Given the description of an element on the screen output the (x, y) to click on. 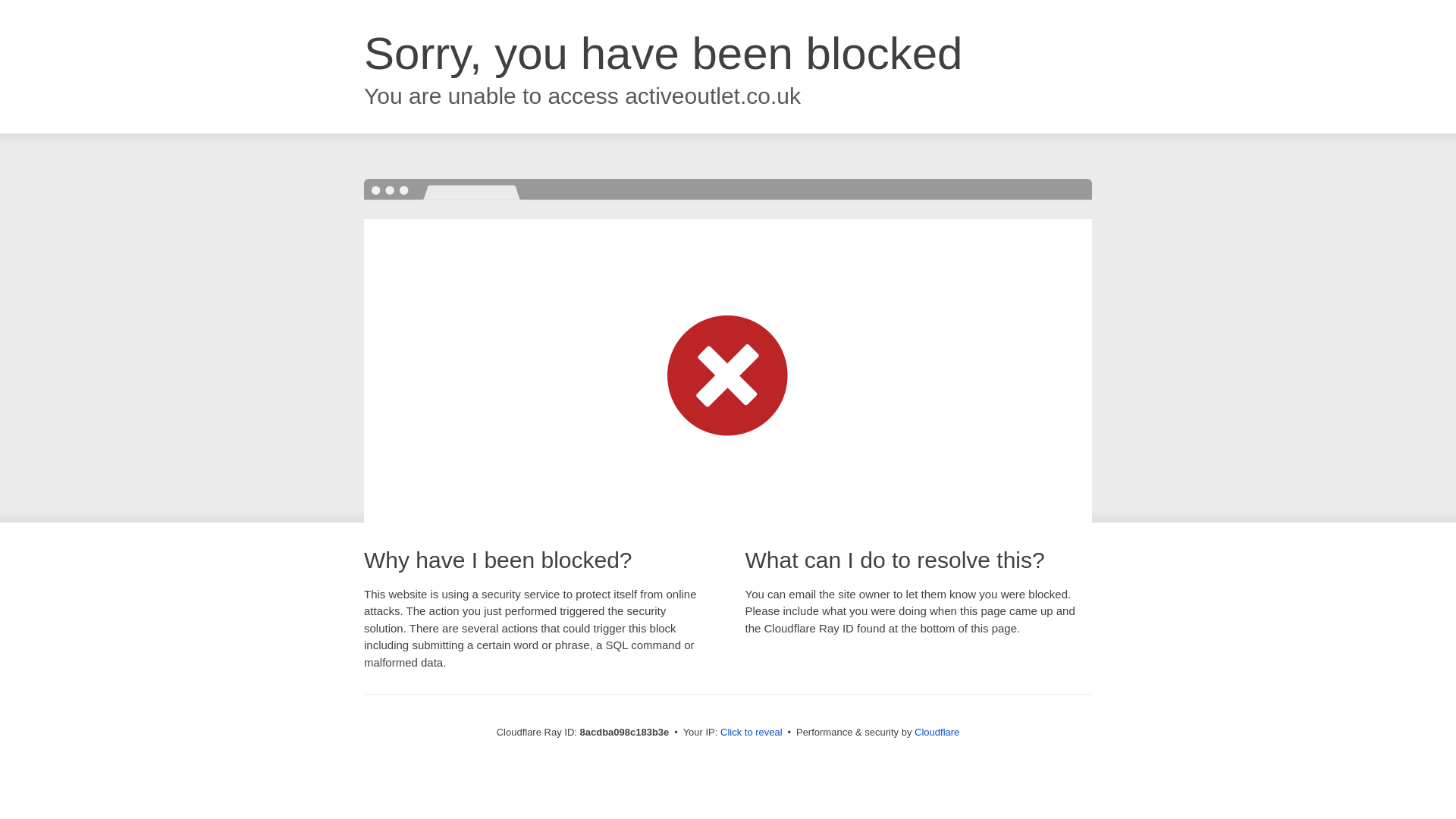
Cloudflare (936, 731)
Click to reveal (751, 732)
